Given the description of an element on the screen output the (x, y) to click on. 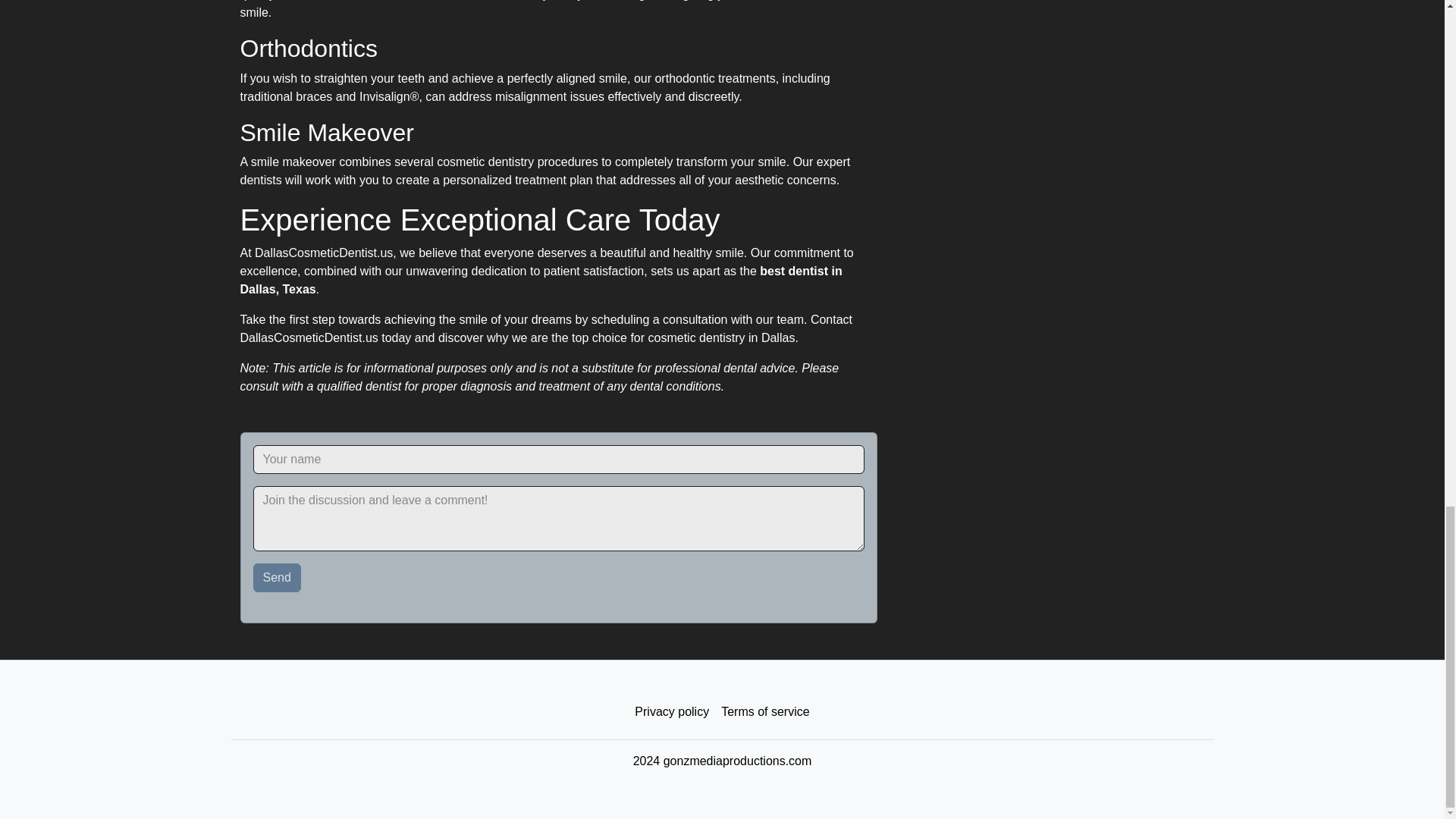
Send (277, 577)
Send (277, 577)
Privacy policy (671, 711)
Terms of service (764, 711)
